Given the description of an element on the screen output the (x, y) to click on. 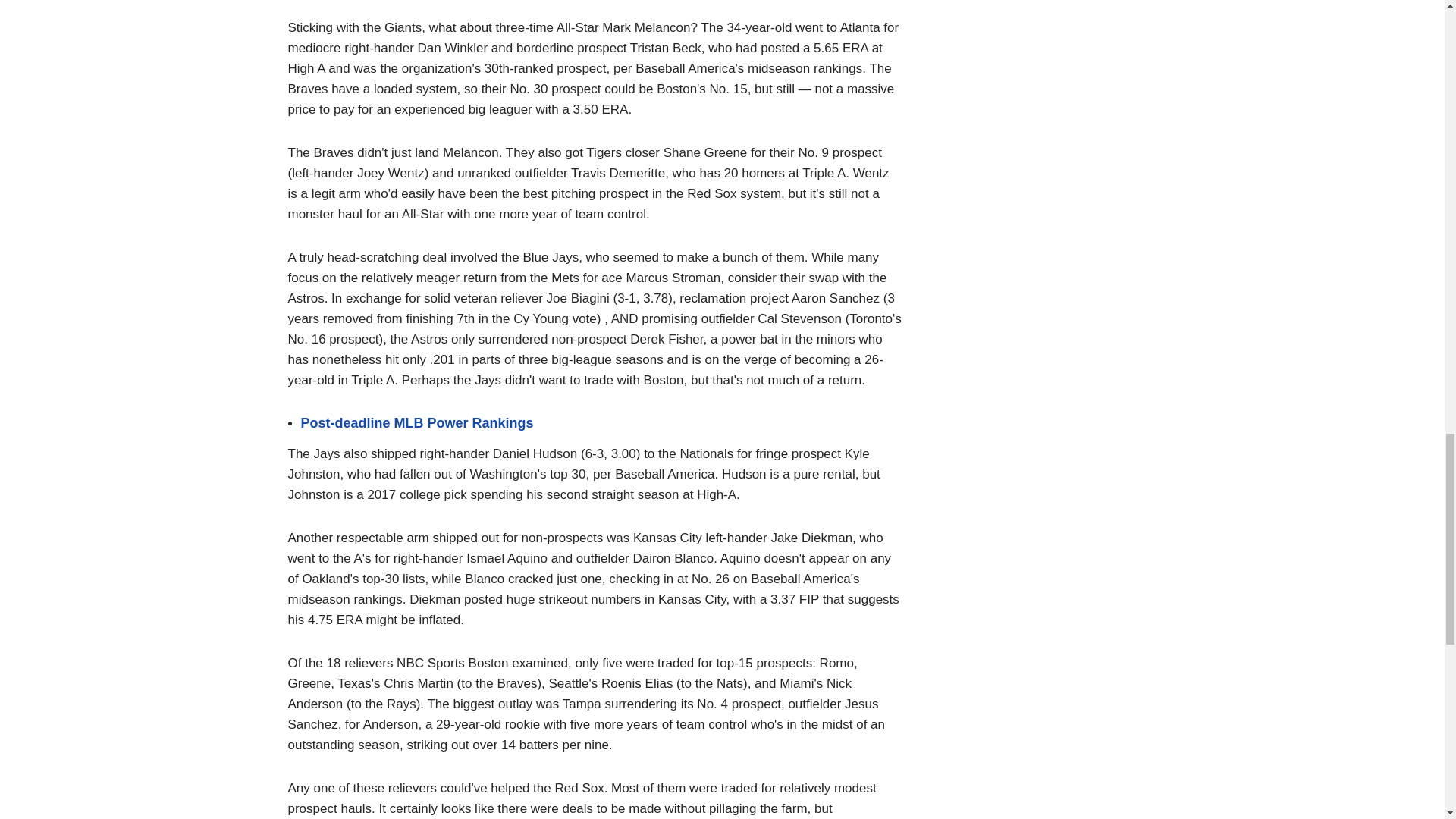
Post-deadline MLB Power Rankings (415, 422)
